Given the description of an element on the screen output the (x, y) to click on. 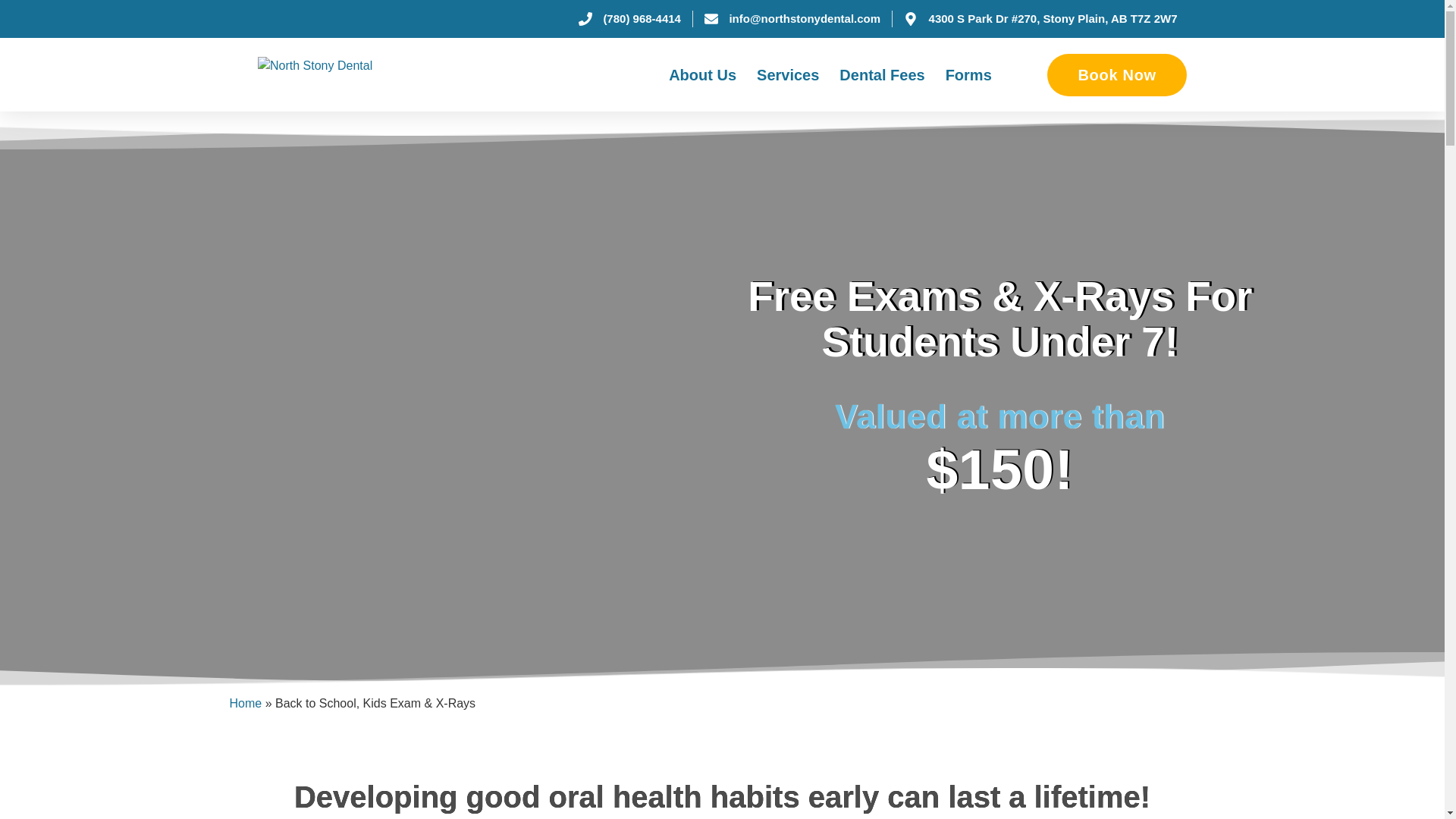
Forms (967, 74)
Services (787, 74)
About Us (702, 74)
Dental Fees (882, 74)
